Given the description of an element on the screen output the (x, y) to click on. 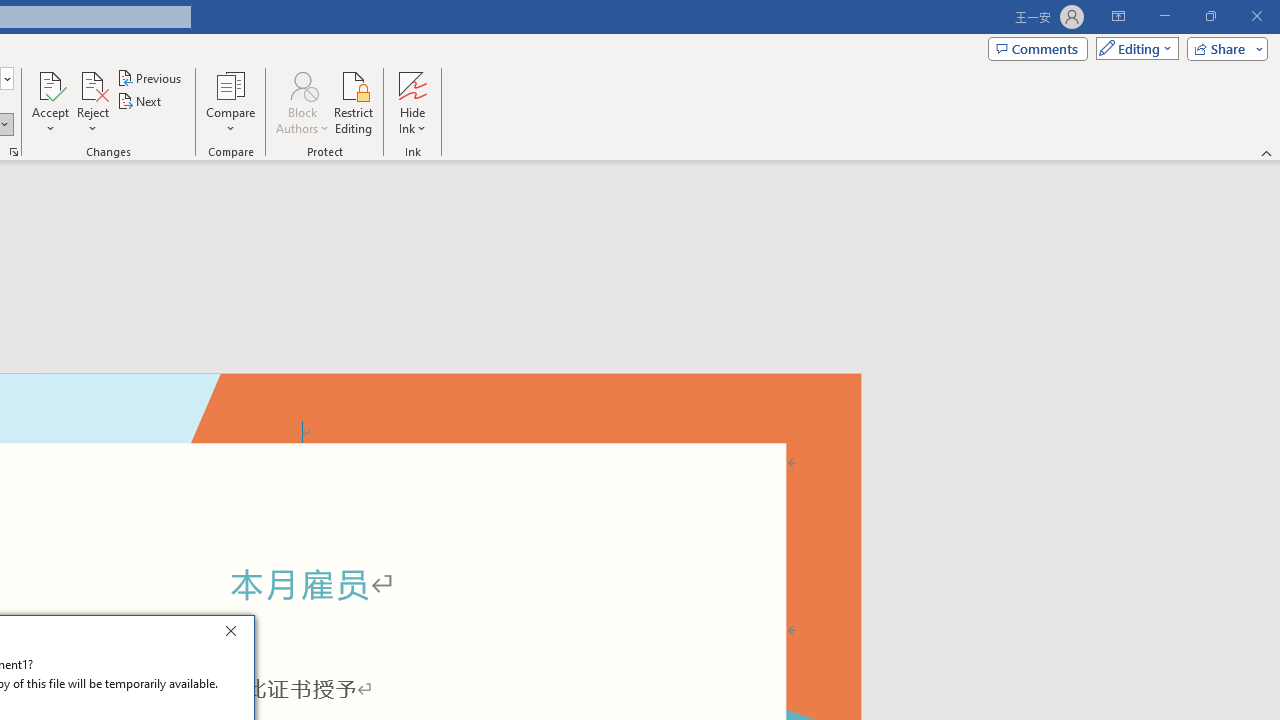
Accept and Move to Next (50, 84)
Open (6, 78)
Mode (1133, 47)
